Given the description of an element on the screen output the (x, y) to click on. 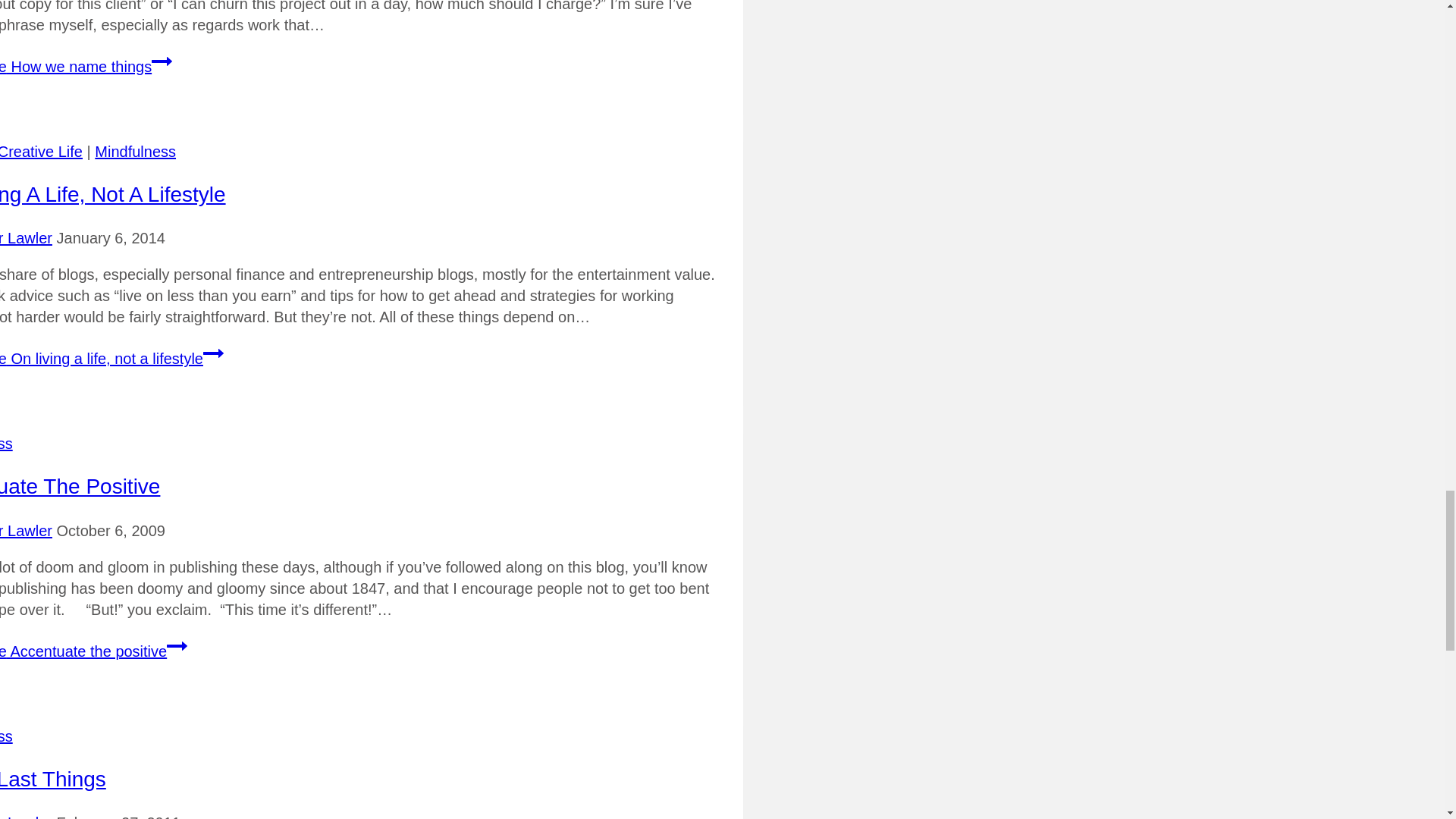
Continue (213, 353)
Continue (161, 61)
Continue (177, 645)
